Given the description of an element on the screen output the (x, y) to click on. 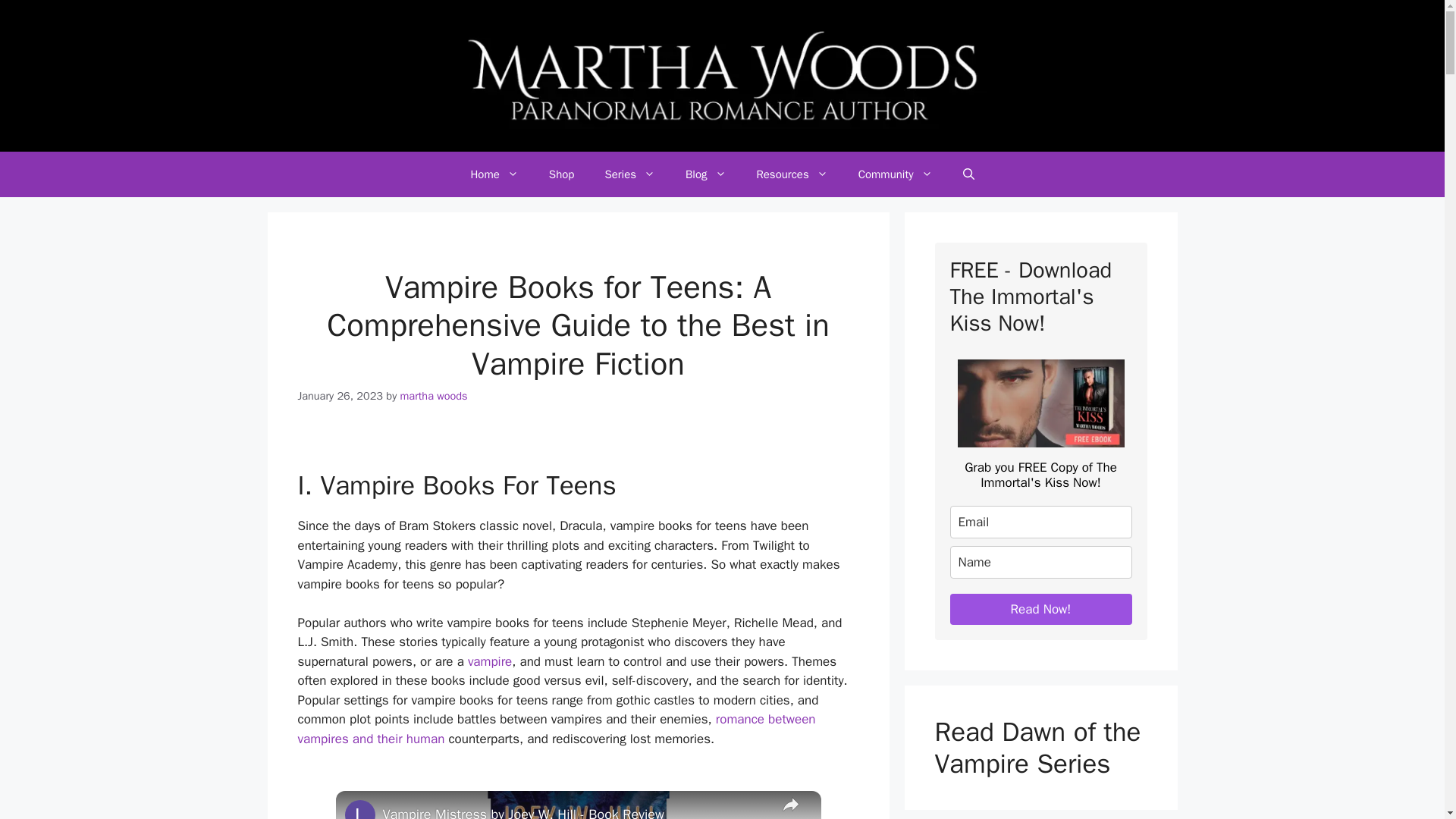
View all posts by martha woods (433, 395)
Shop (561, 174)
Blog (705, 174)
Series (629, 174)
Community (895, 174)
Resources (792, 174)
Home (493, 174)
share (789, 805)
